Given the description of an element on the screen output the (x, y) to click on. 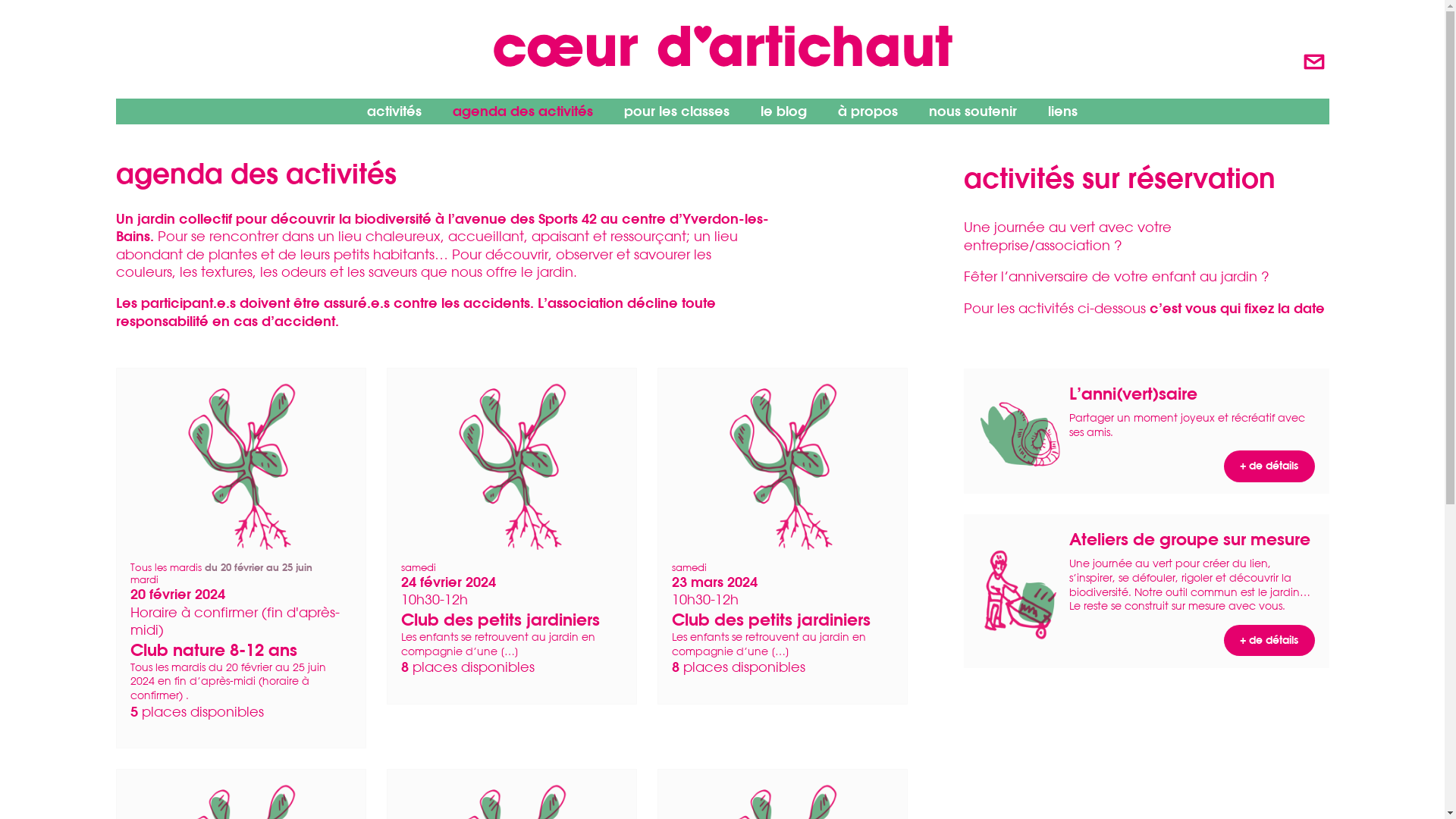
liens Element type: text (1062, 111)
nous soutenir Element type: text (972, 111)
Club des petits jardiniers Element type: text (770, 618)
le blog Element type: text (783, 111)
Club des petits jardiniers Element type: text (500, 618)
Club nature 8-12 ans Element type: text (213, 649)
Ateliers de groupe sur mesure Element type: text (1191, 538)
pour les classes Element type: text (676, 111)
